Given the description of an element on the screen output the (x, y) to click on. 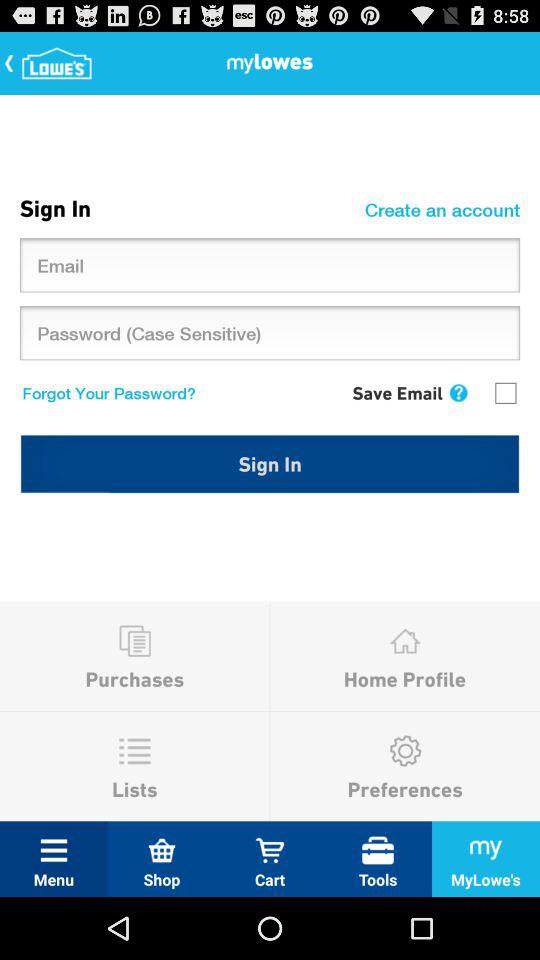
select the text box which says password (269, 333)
sign in (269, 463)
click on mylowes logo (49, 62)
click on the shop icon (161, 850)
select the preferences icon (404, 750)
